Given the description of an element on the screen output the (x, y) to click on. 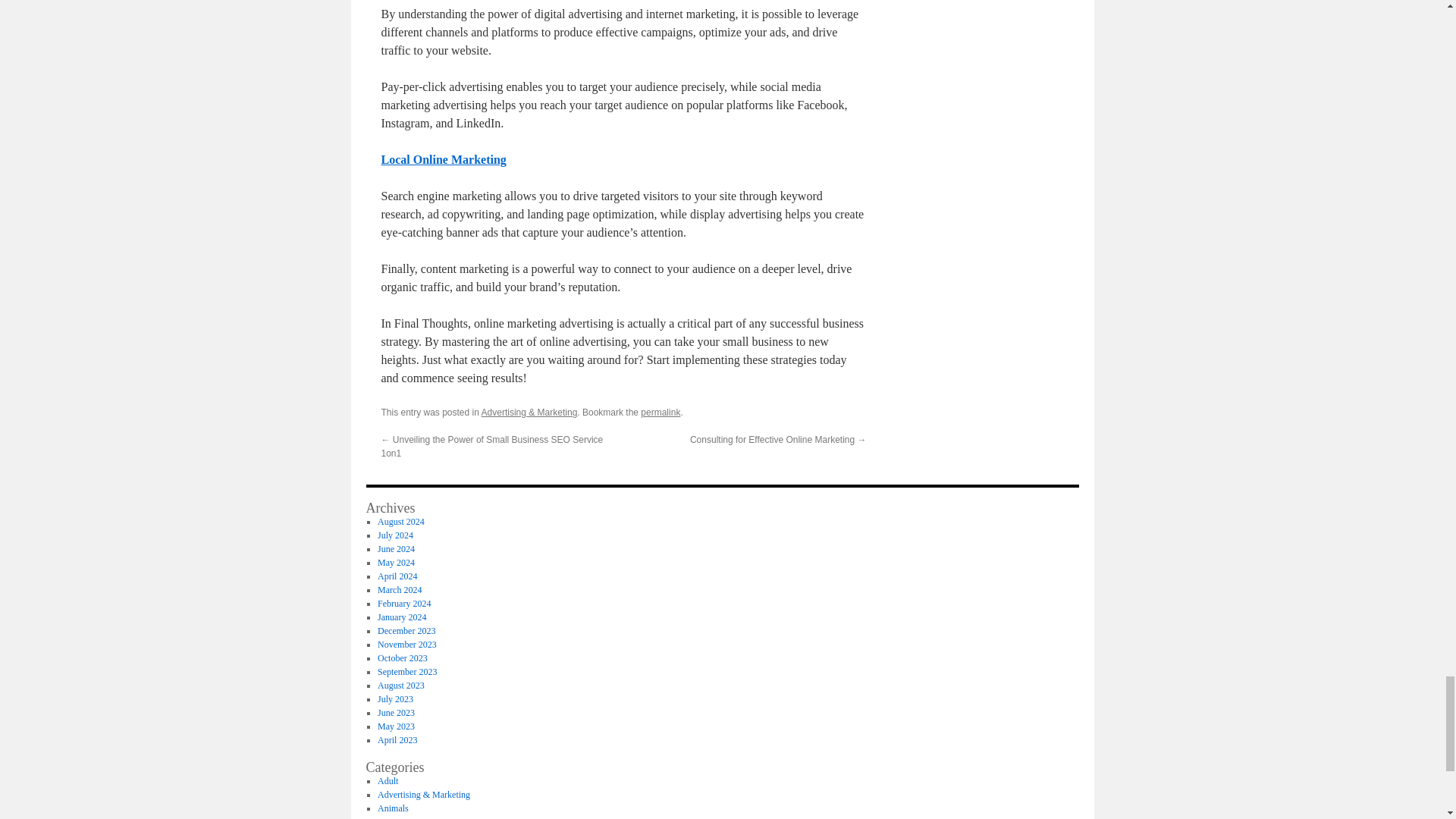
January 2024 (401, 616)
December 2023 (406, 630)
June 2024 (395, 548)
May 2023 (395, 726)
August 2024 (401, 521)
August 2023 (401, 685)
May 2024 (395, 562)
April 2024 (396, 575)
February 2024 (403, 603)
July 2024 (395, 534)
